Given the description of an element on the screen output the (x, y) to click on. 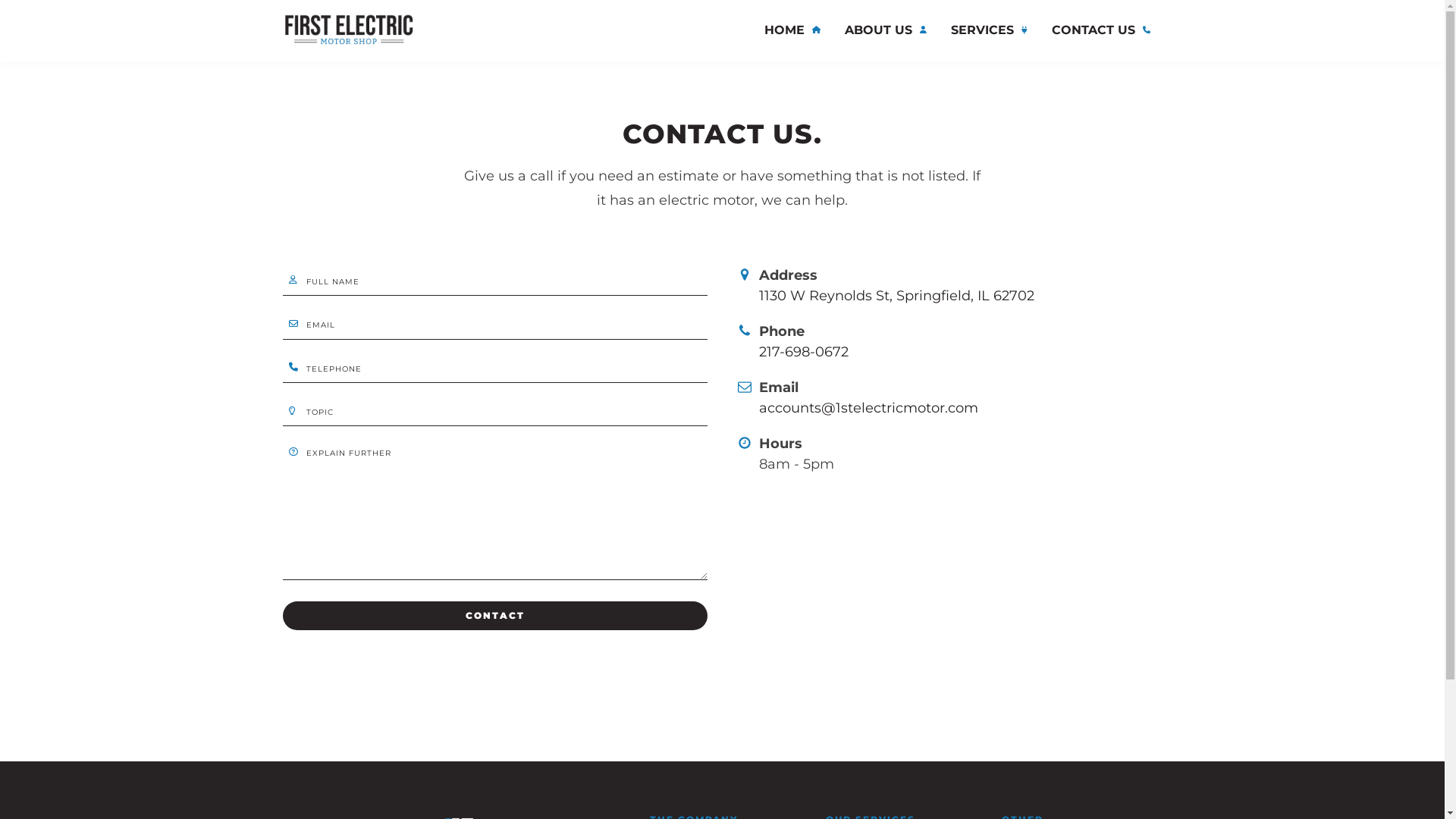
217-698-0672 Element type: text (802, 351)
HOME Element type: text (792, 30)
SERVICES Element type: text (988, 30)
accounts@1stelectricmotor.com Element type: text (867, 407)
Contact Element type: text (494, 615)
CONTACT US Element type: text (1099, 30)
1130 W Reynolds St, Springfield, IL 62702 Element type: text (895, 295)
ABOUT US Element type: text (885, 30)
